Given the description of an element on the screen output the (x, y) to click on. 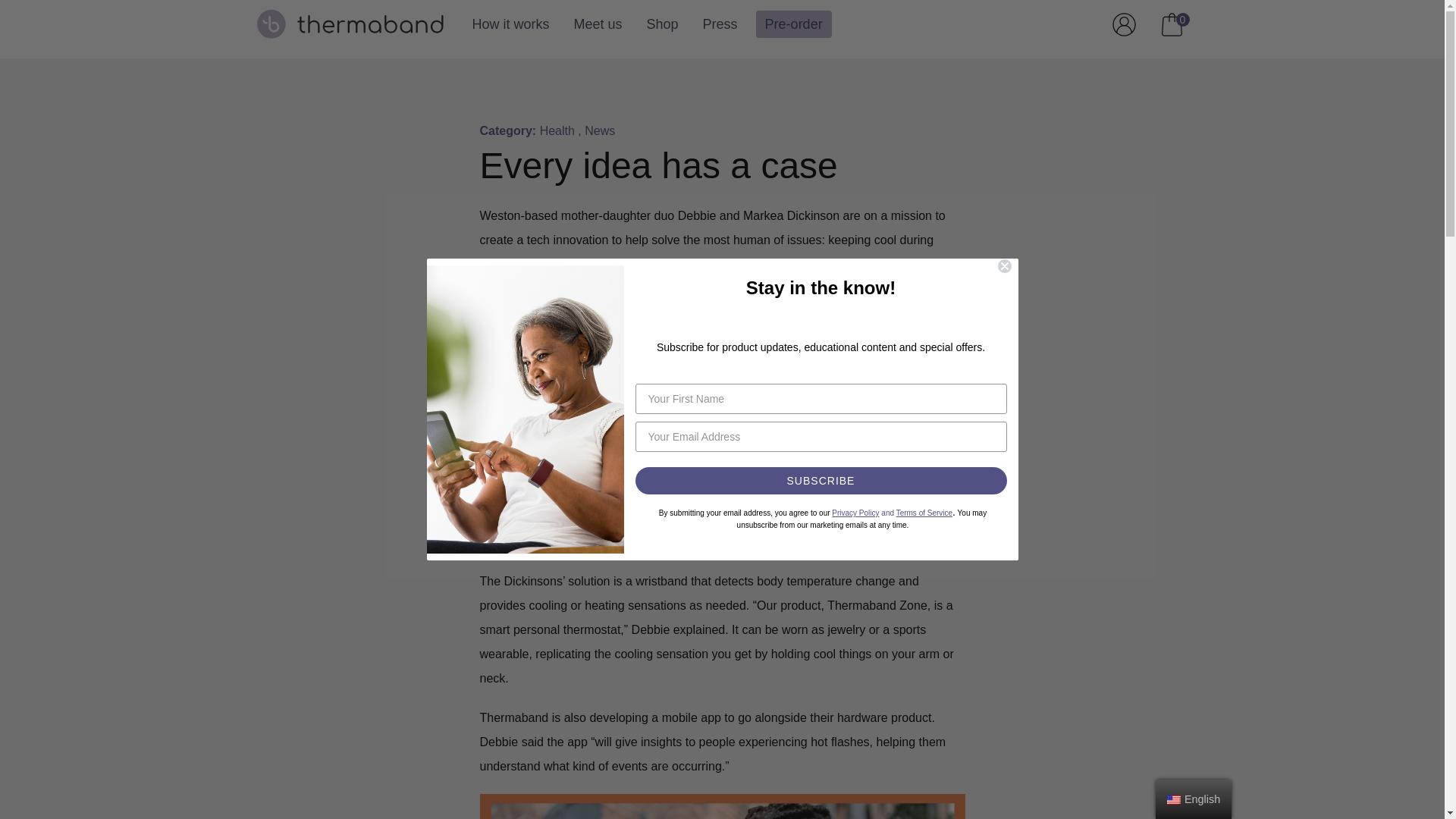
Close dialog 3 (1003, 265)
Health (1171, 24)
Shop (557, 130)
Press (662, 23)
Go to your account (720, 23)
Pre-order (1123, 24)
How it works (793, 23)
View your shopping cart (509, 23)
Meet us (1171, 24)
English (597, 23)
News (1173, 799)
